Given the description of an element on the screen output the (x, y) to click on. 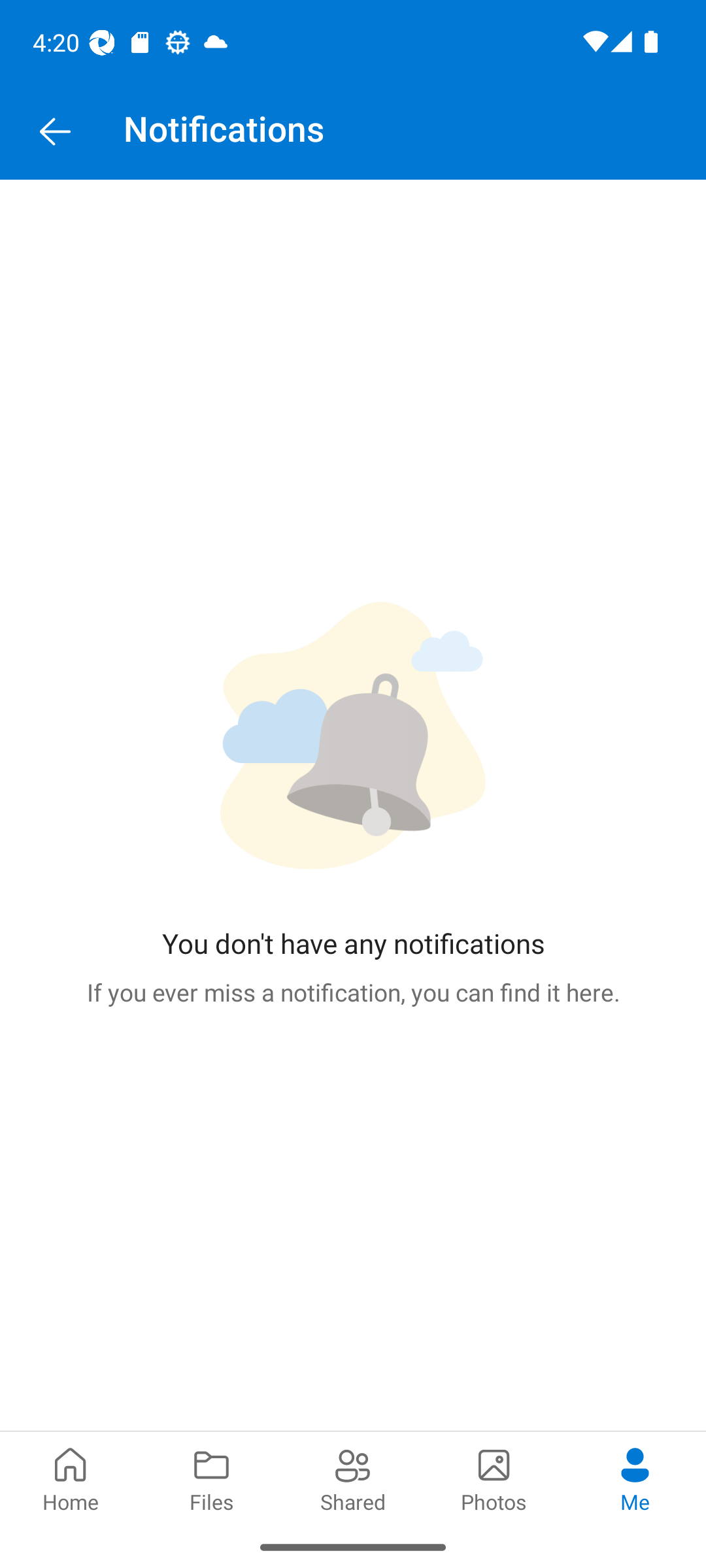
Navigate Up (55, 131)
Home pivot Home (70, 1478)
Files pivot Files (211, 1478)
Shared pivot Shared (352, 1478)
Photos pivot Photos (493, 1478)
